Given the description of an element on the screen output the (x, y) to click on. 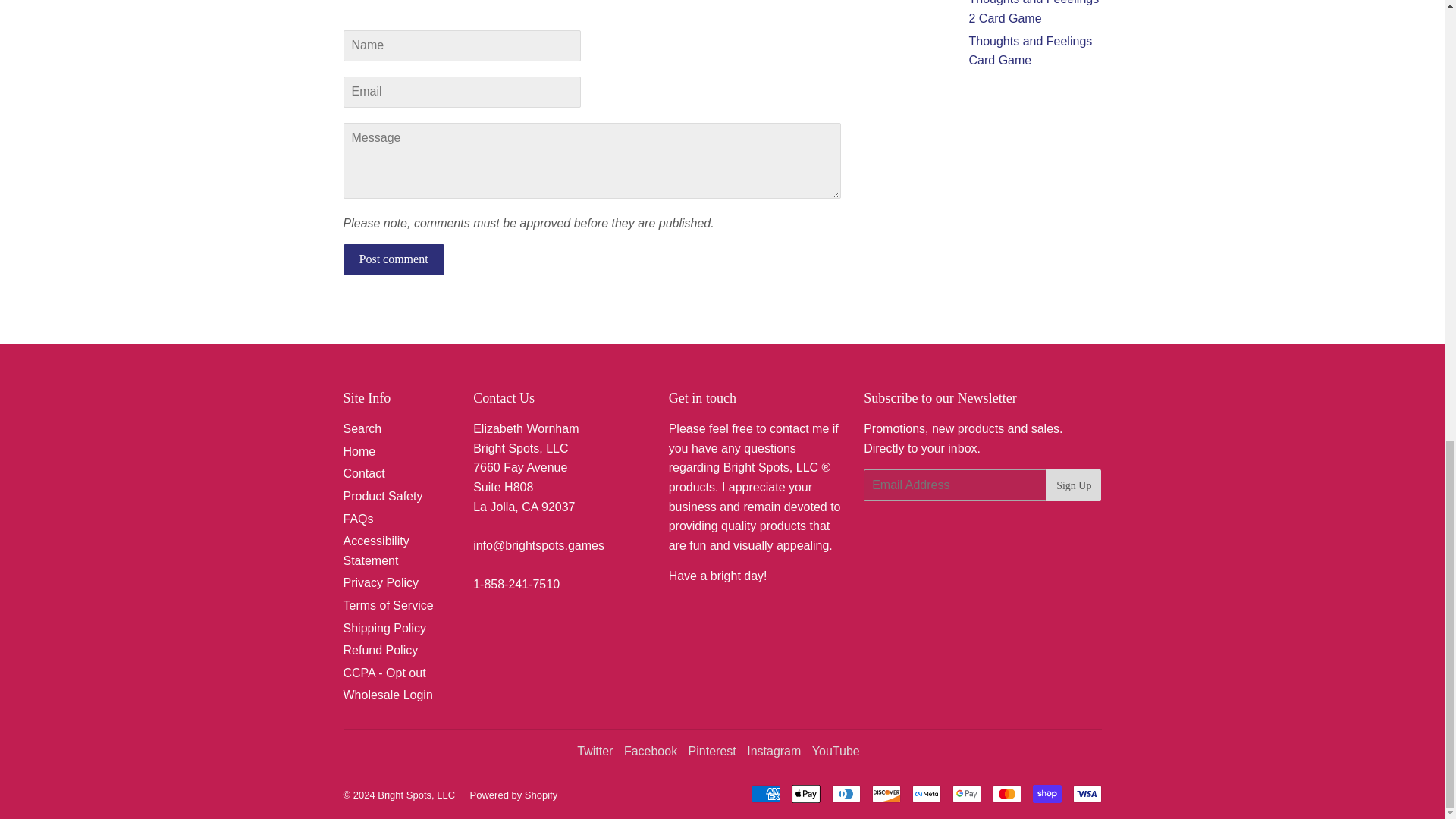
Diners Club (845, 793)
Post comment (393, 259)
Visa (1085, 793)
Bright Spots, LLC on YouTube (836, 750)
Show articles tagged Thoughts and Feelings Card Game (1031, 51)
Shop Pay (1046, 793)
Apple Pay (806, 793)
Bright Spots, LLC on Pinterest (712, 750)
American Express (764, 793)
Bright Spots, LLC on Twitter (594, 750)
Mastercard (1005, 793)
Bright Spots, LLC on Instagram (773, 750)
Google Pay (966, 793)
Show articles tagged Thoughts and Feeelings 2 Card Game (1034, 12)
Bright Spots, LLC on Facebook (650, 750)
